Given the description of an element on the screen output the (x, y) to click on. 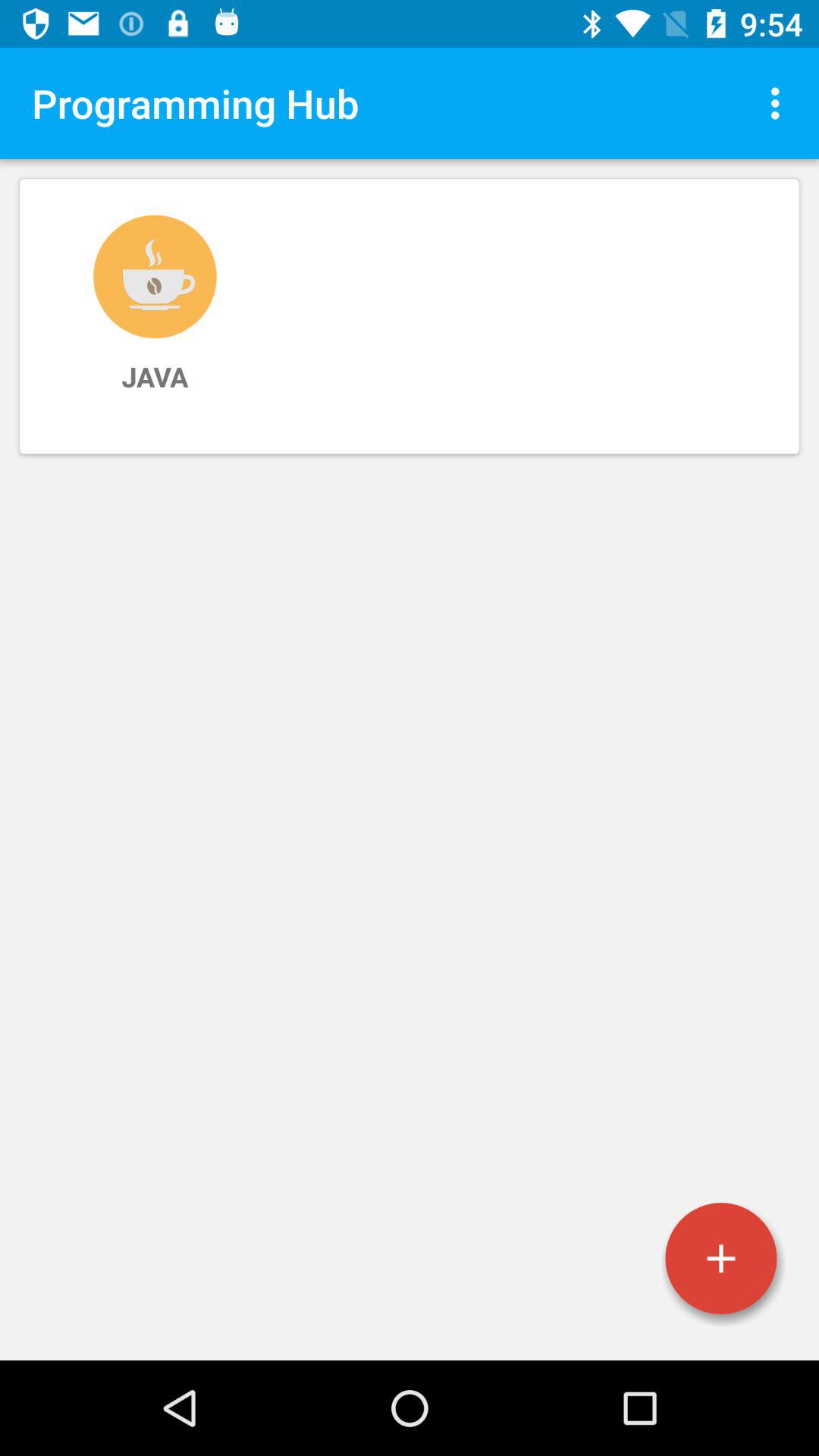
add item (721, 1258)
